Given the description of an element on the screen output the (x, y) to click on. 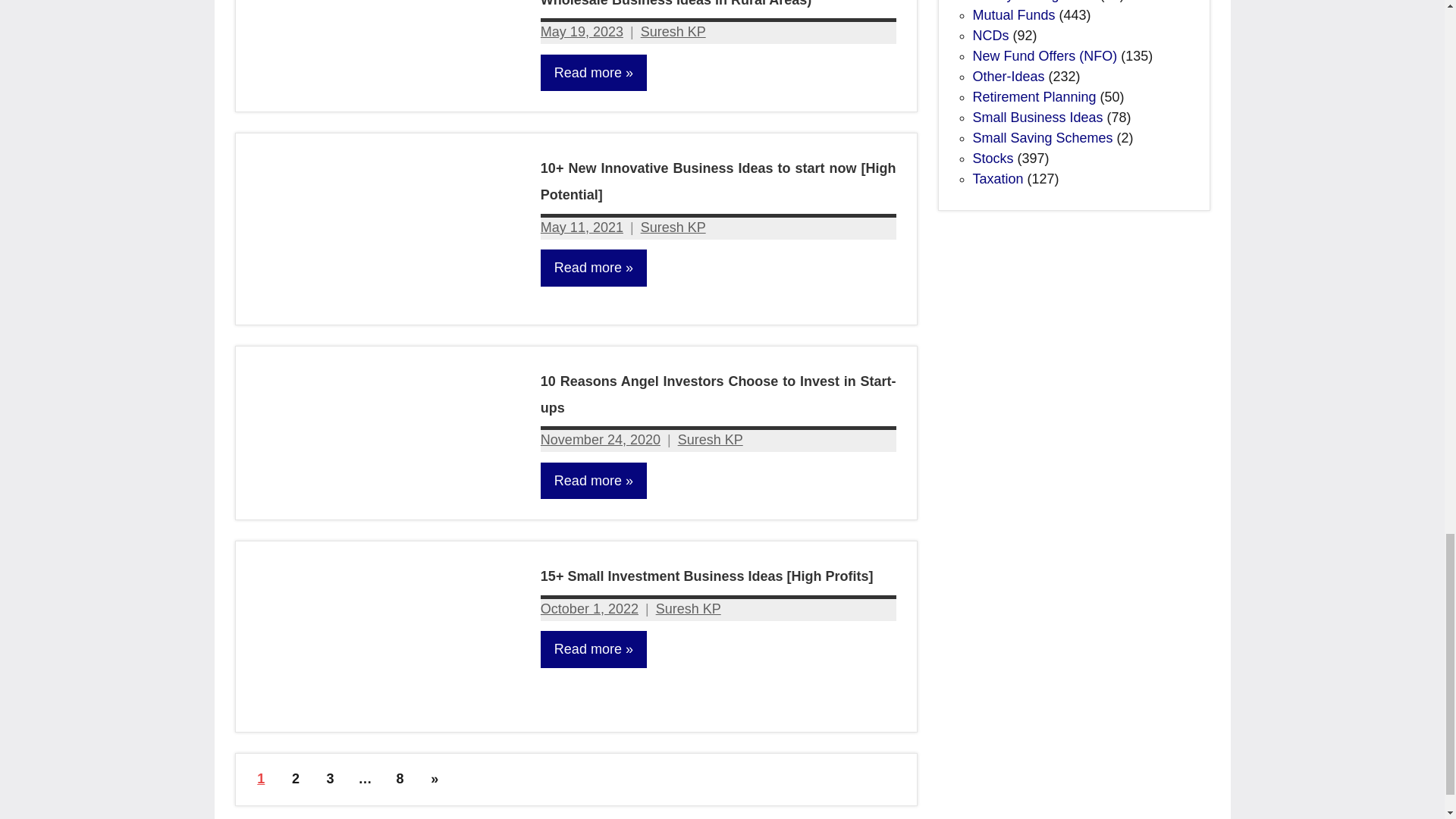
View all posts by Suresh KP (710, 439)
View all posts by Suresh KP (673, 227)
View all posts by Suresh KP (688, 608)
View all posts by Suresh KP (673, 31)
